Given the description of an element on the screen output the (x, y) to click on. 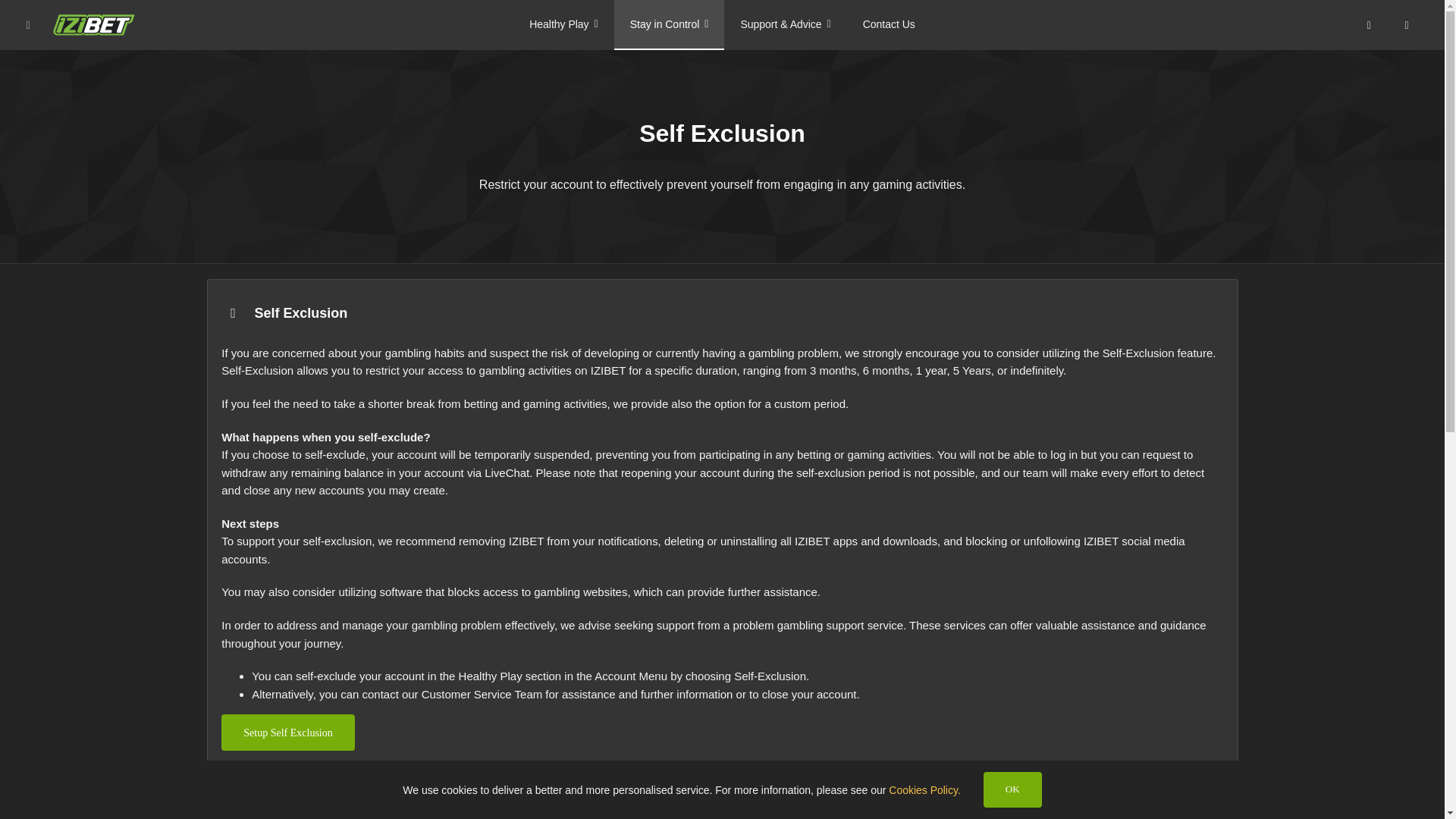
Stay in Control (669, 24)
Healthy Play (563, 24)
Contact Us (889, 24)
